Given the description of an element on the screen output the (x, y) to click on. 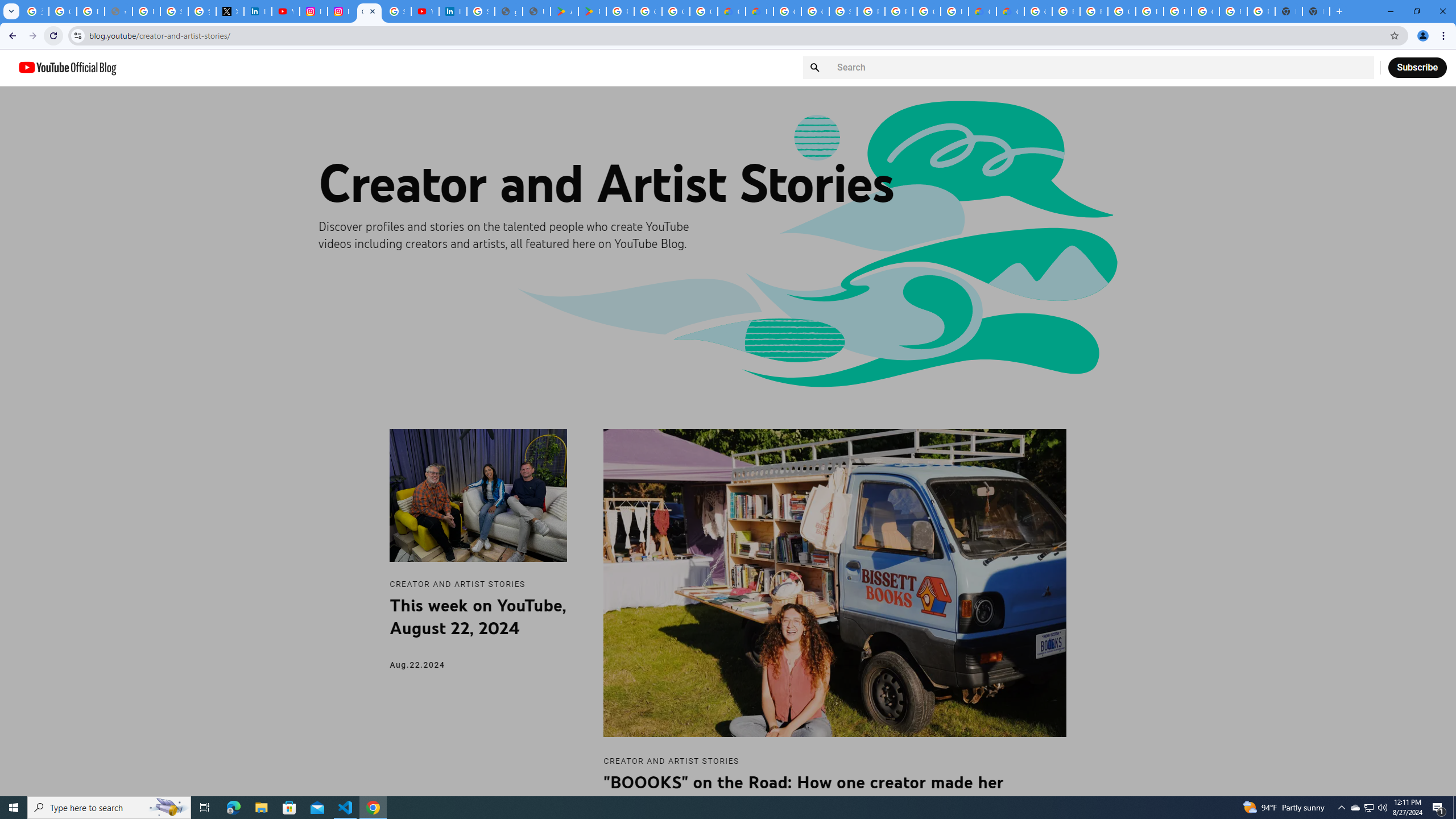
New Tab (1316, 11)
Identity verification via Persona | LinkedIn Help (452, 11)
Google Cloud Platform (1205, 11)
X (229, 11)
support.google.com - Network error (118, 11)
Browse Chrome as a guest - Computer - Google Chrome Help (1065, 11)
